Given the description of an element on the screen output the (x, y) to click on. 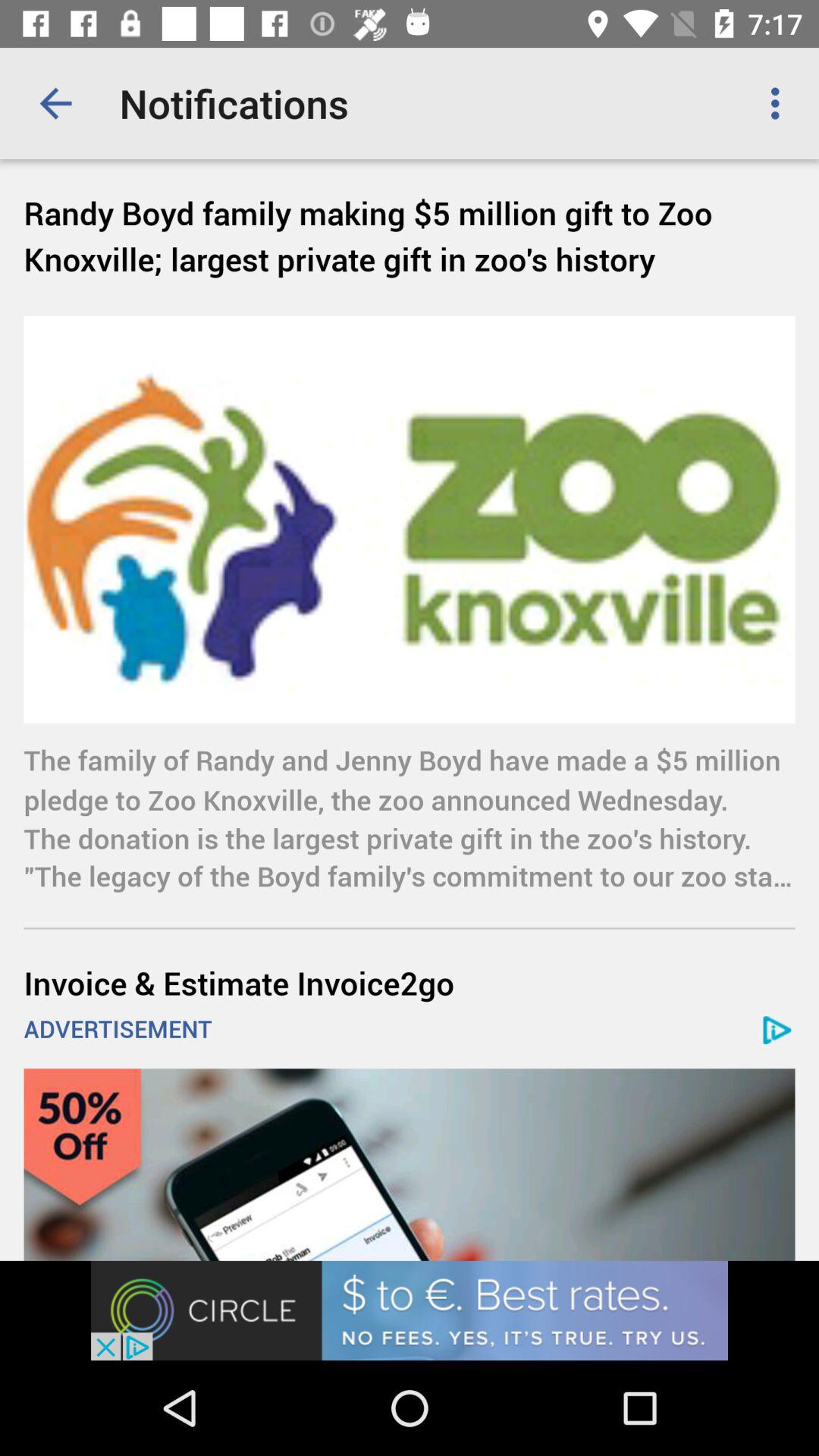
advertisement (409, 1164)
